Given the description of an element on the screen output the (x, y) to click on. 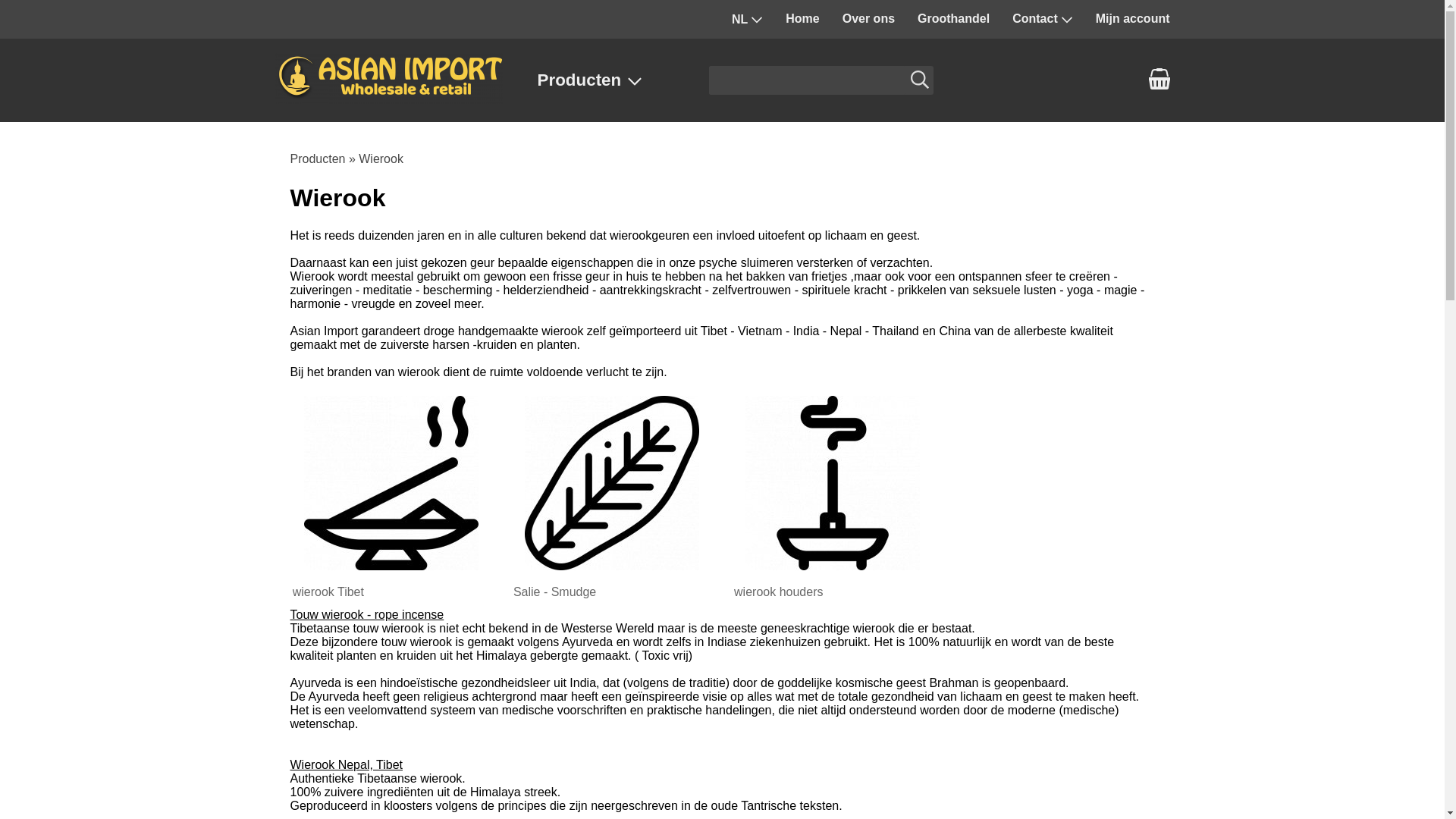
Producten Element type: text (317, 158)
Groothandel Element type: text (953, 18)
Over ons Element type: text (868, 18)
Home Element type: text (802, 18)
NL Element type: text (747, 19)
Salie - Smudge Element type: text (611, 493)
wierook houders Element type: text (832, 493)
Contact Element type: text (1042, 18)
Producten Element type: text (604, 80)
Mijn account Element type: text (1132, 18)
wierook Tibet Element type: text (390, 493)
